Given the description of an element on the screen output the (x, y) to click on. 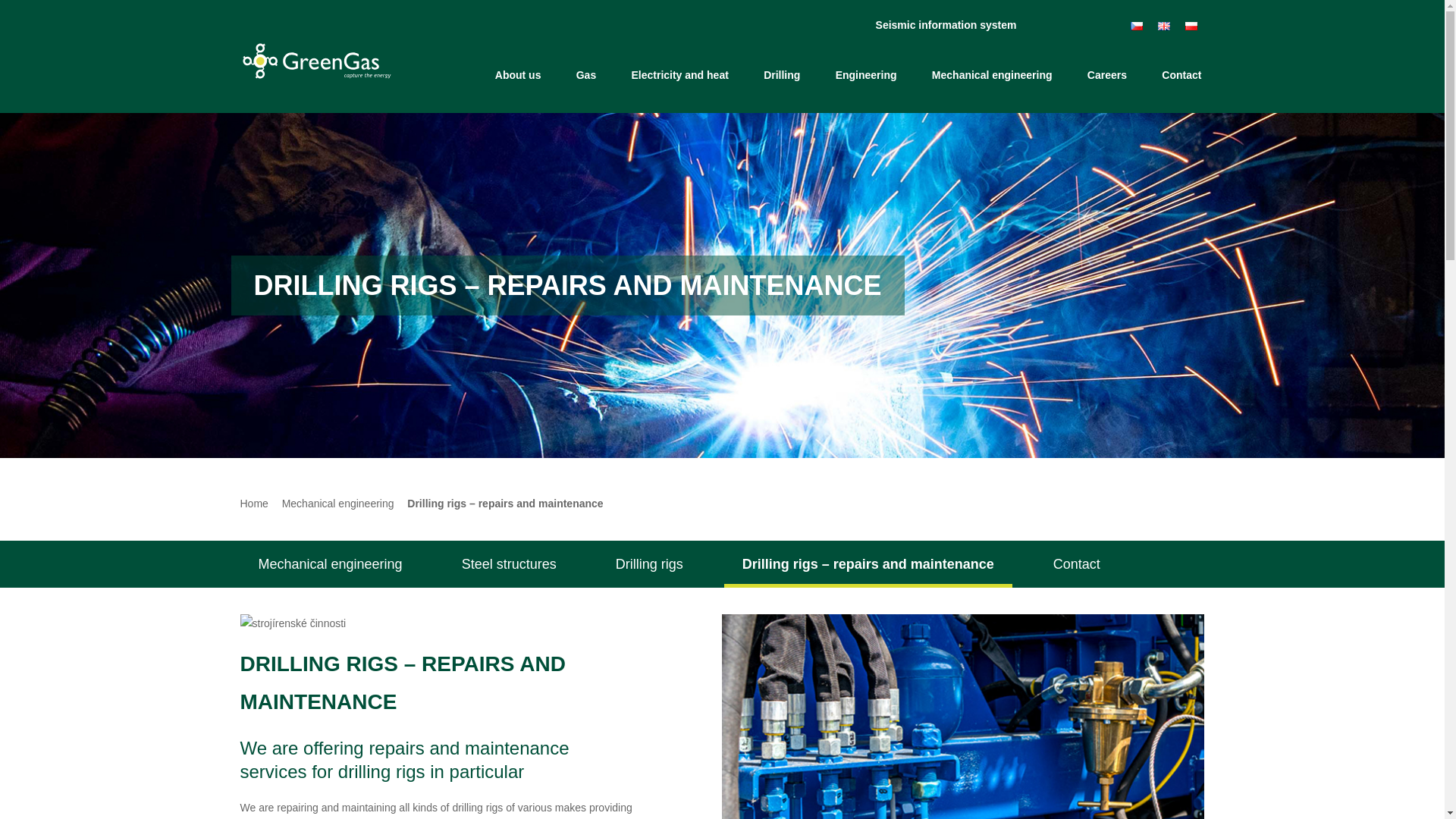
Gas (586, 75)
Electricity and heat (678, 75)
Seismic information system (939, 25)
About us (518, 75)
LinkedIn (1087, 19)
Youtube (1101, 19)
Engineering (866, 75)
Facebook (1056, 19)
Instagram (1072, 19)
Home (458, 74)
Drilling (781, 75)
